Given the description of an element on the screen output the (x, y) to click on. 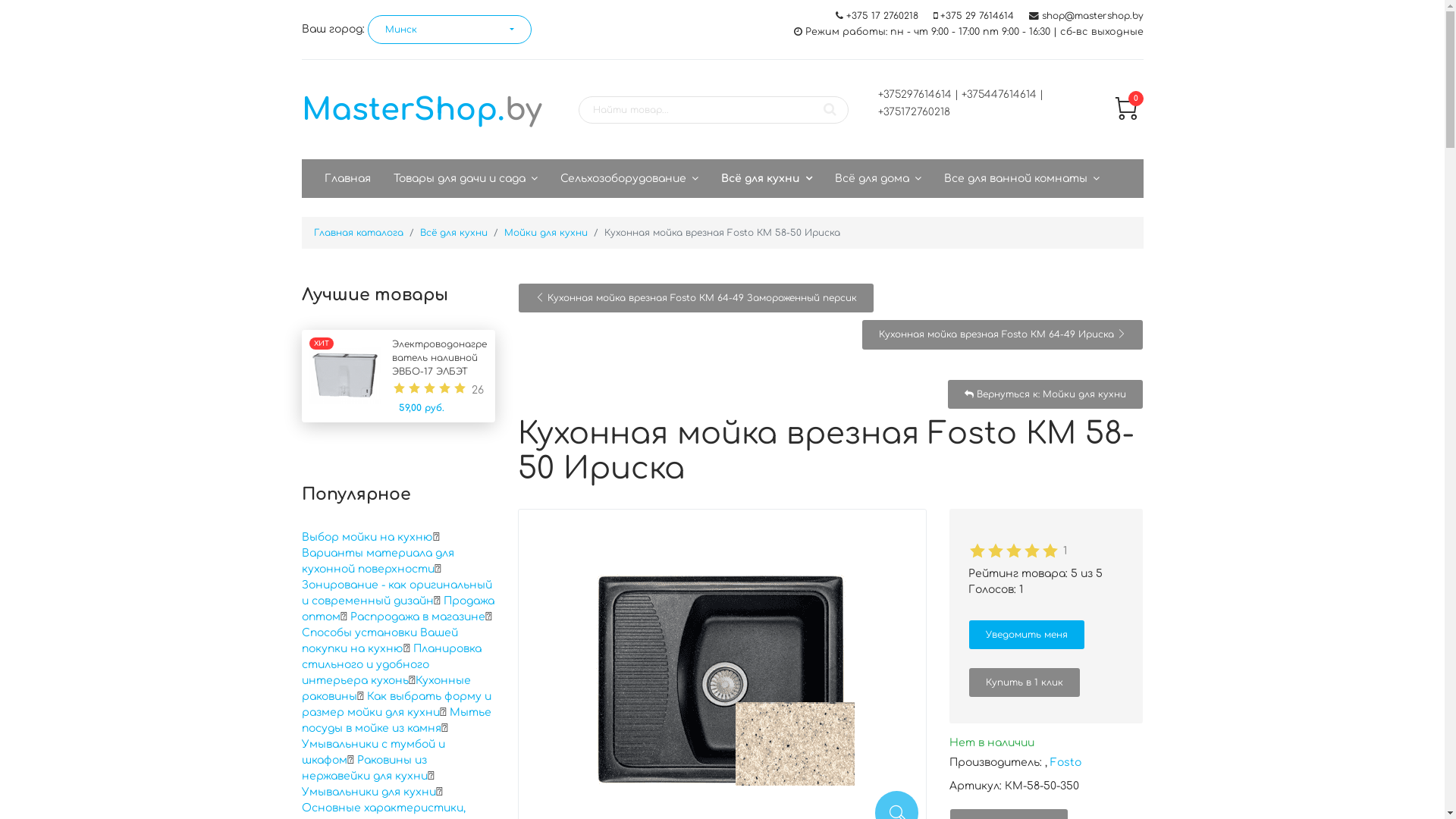
0 Element type: text (1125, 116)
+375 17 2760218 Element type: text (882, 15)
MasterShop.by Element type: text (421, 109)
shop@mastershop.by Element type: text (1092, 15)
Fosto Element type: text (1065, 762)
+375 29 7614614 Element type: text (976, 15)
